Given the description of an element on the screen output the (x, y) to click on. 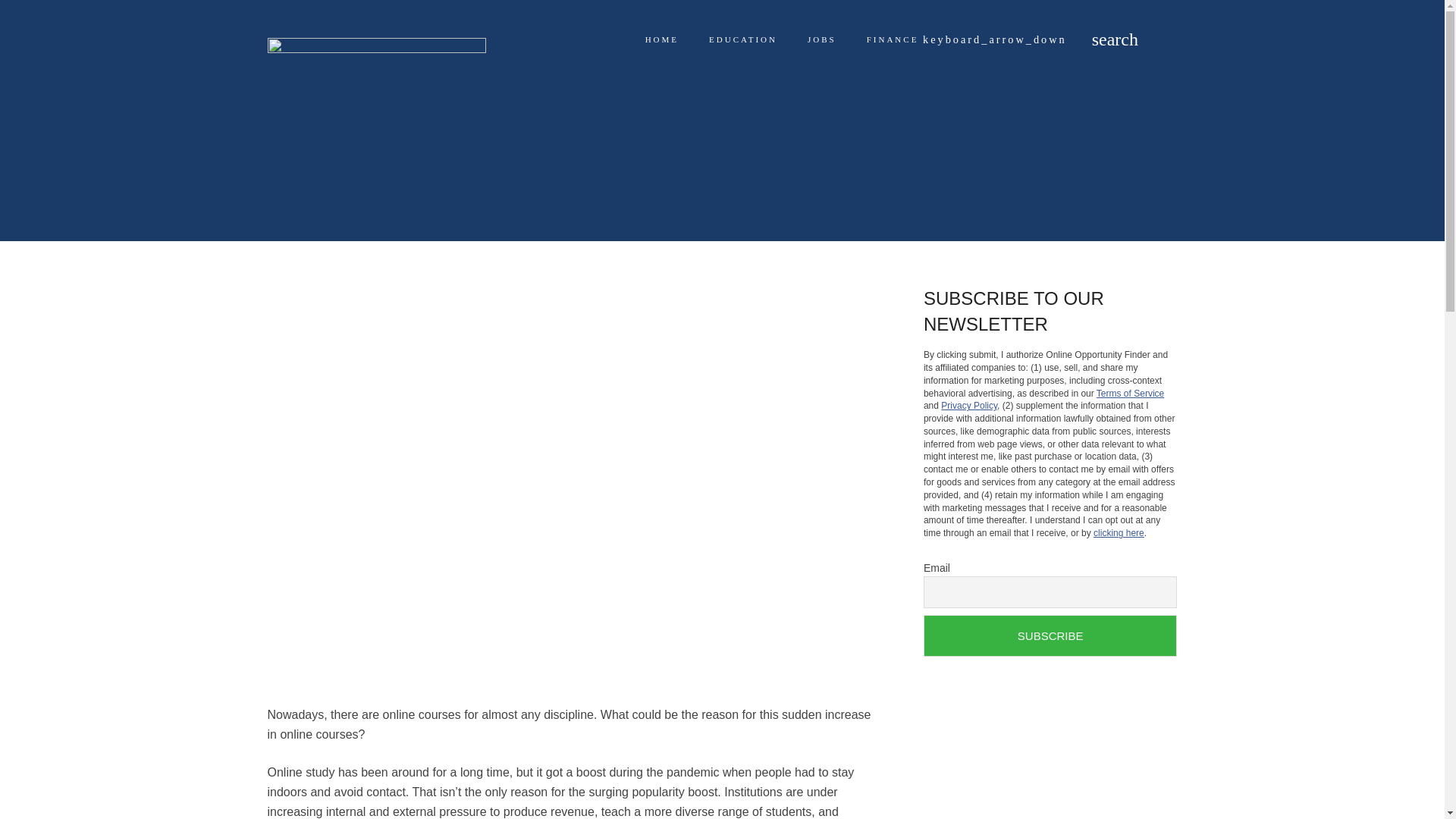
Subscribe (1050, 635)
Home (489, 181)
FINANCE (966, 39)
Subscribe (1050, 635)
Why is there a Rise in the Popularity of Online Studies? (835, 181)
EDUCATION (743, 39)
Education (602, 181)
Privacy Policy (968, 405)
Terms of Service (1129, 393)
clicking here (1118, 532)
